Given the description of an element on the screen output the (x, y) to click on. 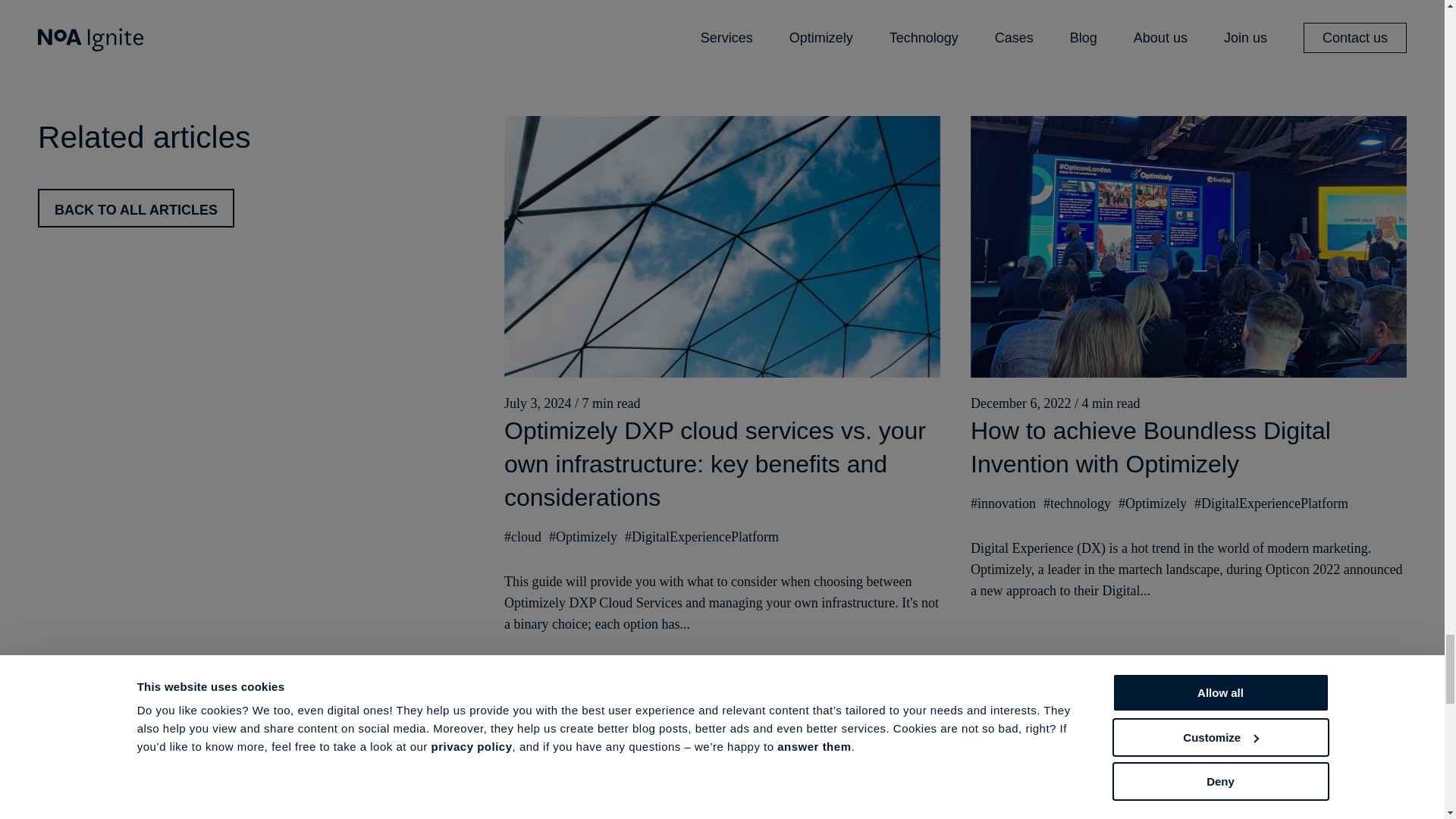
Noa Ignite Homepage (90, 795)
